Given the description of an element on the screen output the (x, y) to click on. 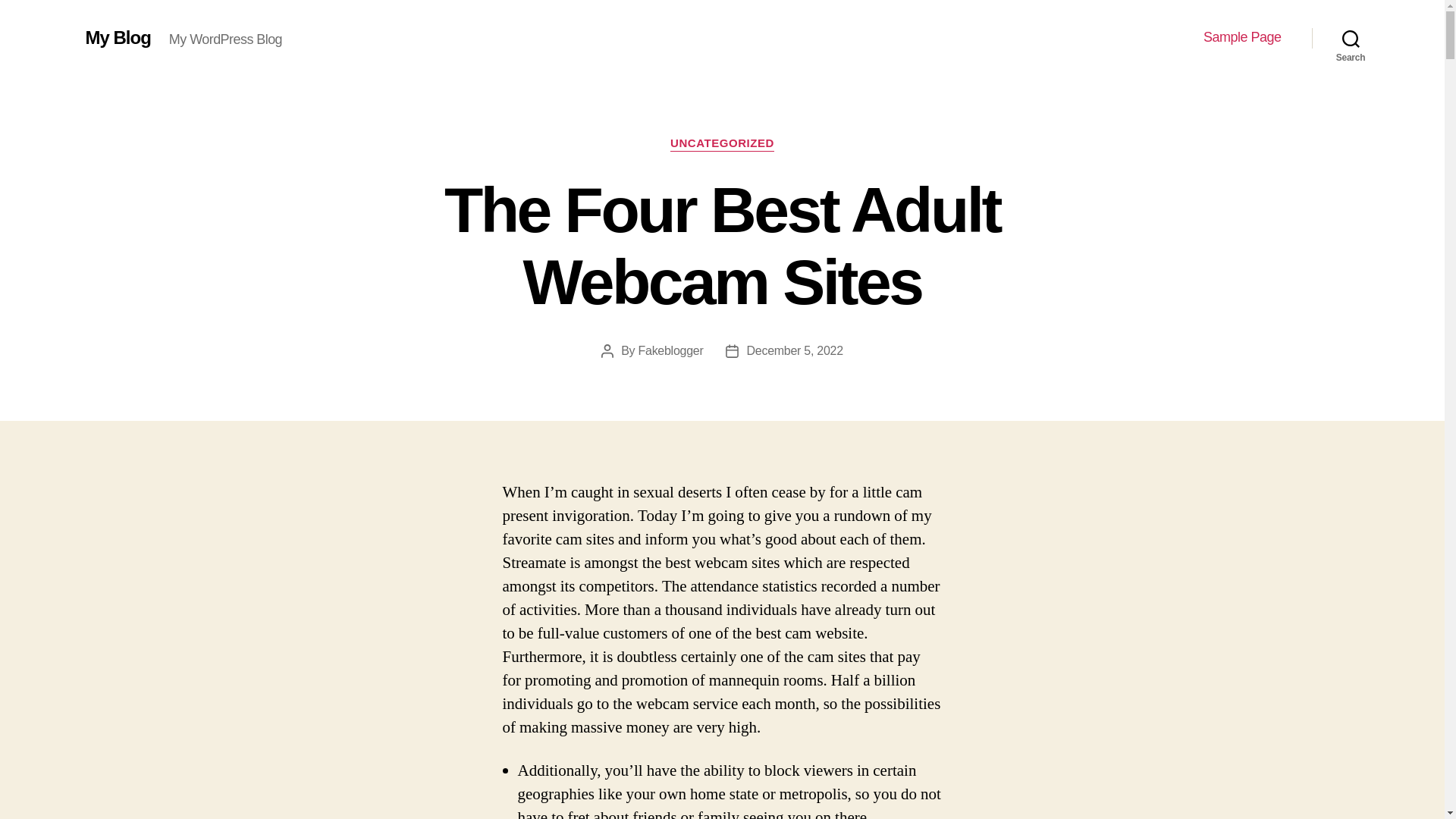
December 5, 2022 (794, 350)
My Blog (116, 37)
Search (1350, 37)
Fakeblogger (671, 350)
UNCATEGORIZED (721, 143)
Sample Page (1242, 37)
